Given the description of an element on the screen output the (x, y) to click on. 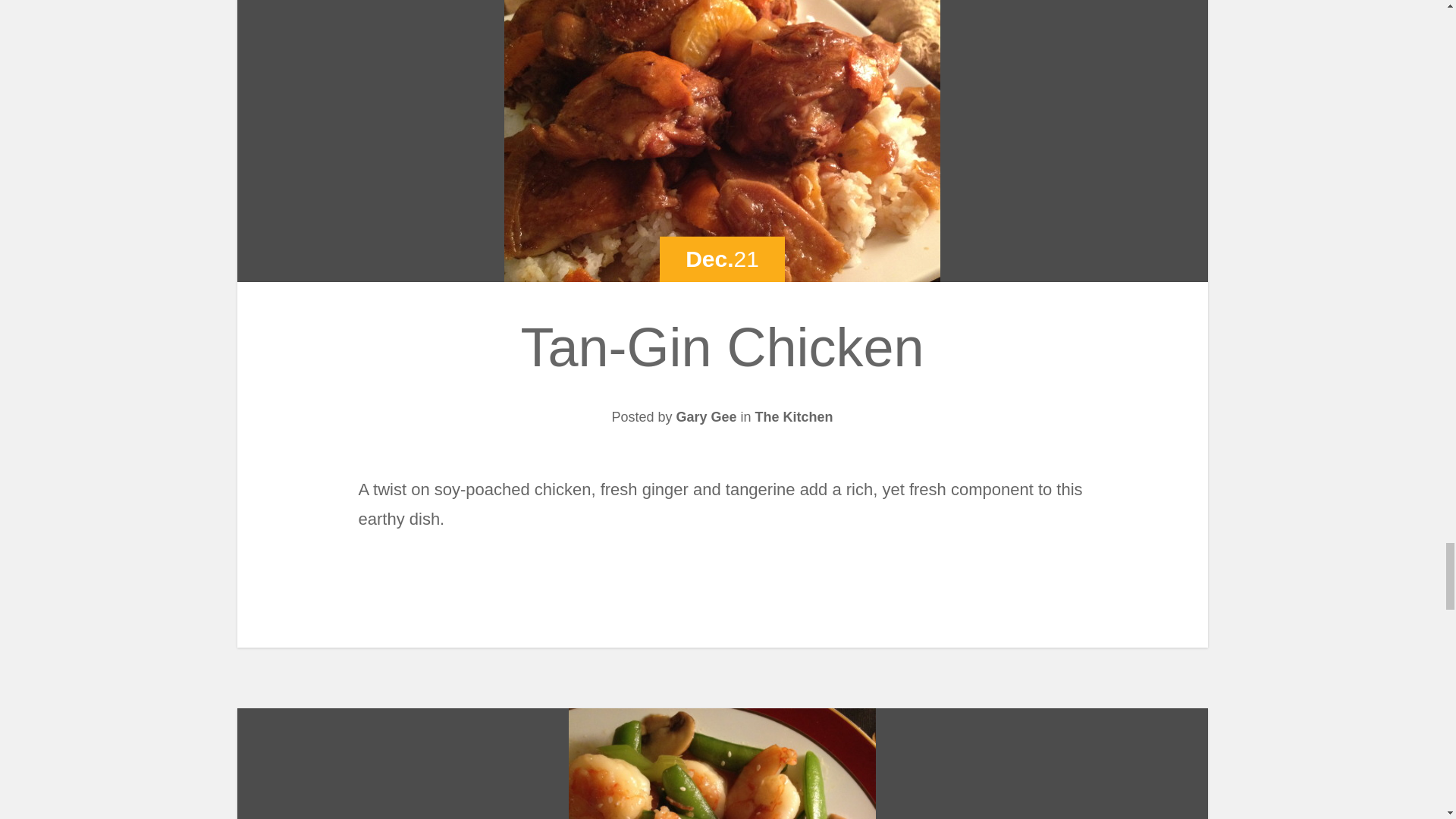
Posts by Gary Gee (705, 417)
